Given the description of an element on the screen output the (x, y) to click on. 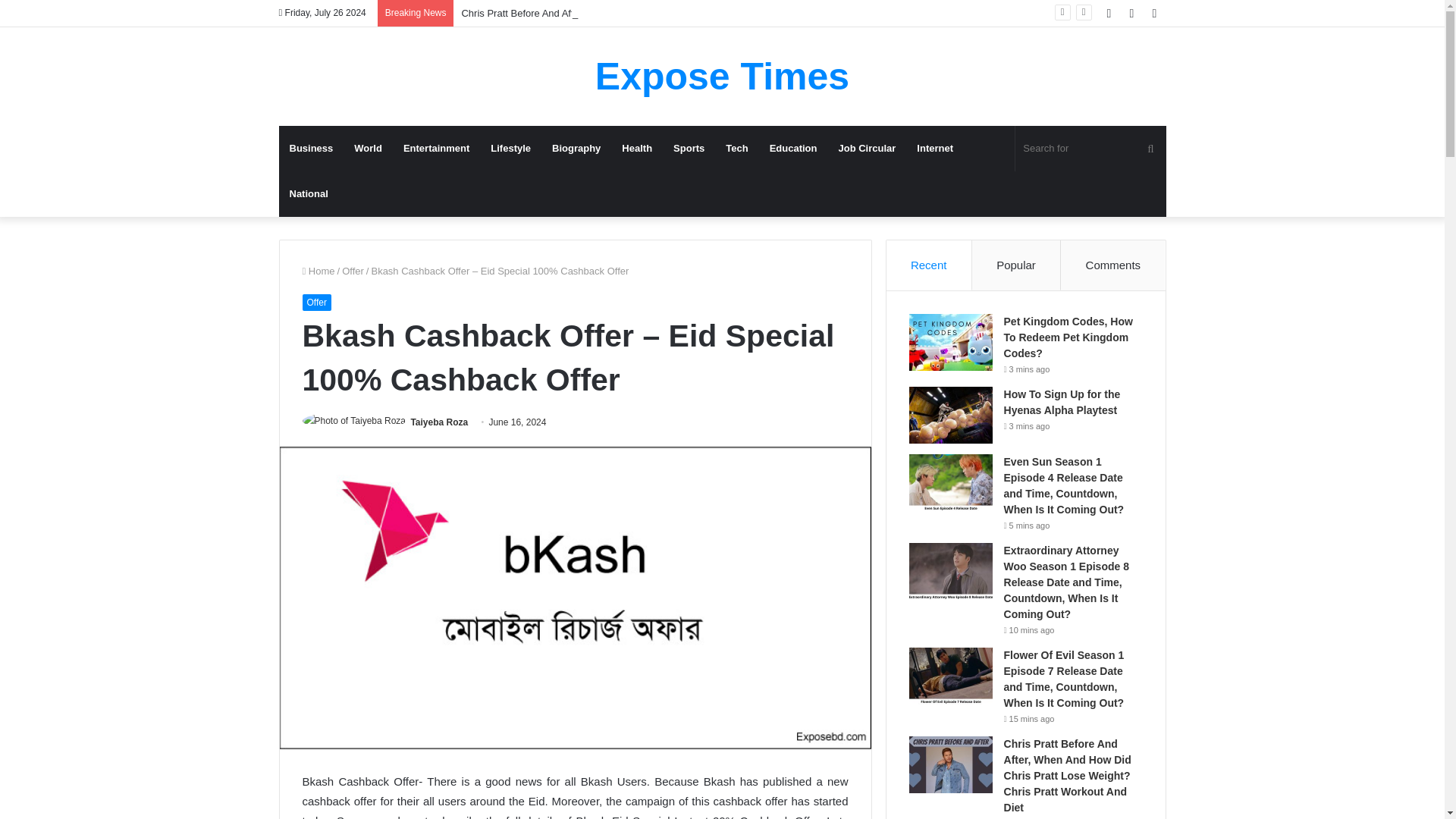
Internet (934, 148)
Offer (353, 270)
Taiyeba Roza (438, 421)
Sports (688, 148)
Lifestyle (510, 148)
Search for (1090, 148)
Job Circular (867, 148)
Expose Times (721, 76)
National (309, 194)
Taiyeba Roza (438, 421)
Entertainment (436, 148)
Biography (576, 148)
Business (311, 148)
Home (317, 270)
